Given the description of an element on the screen output the (x, y) to click on. 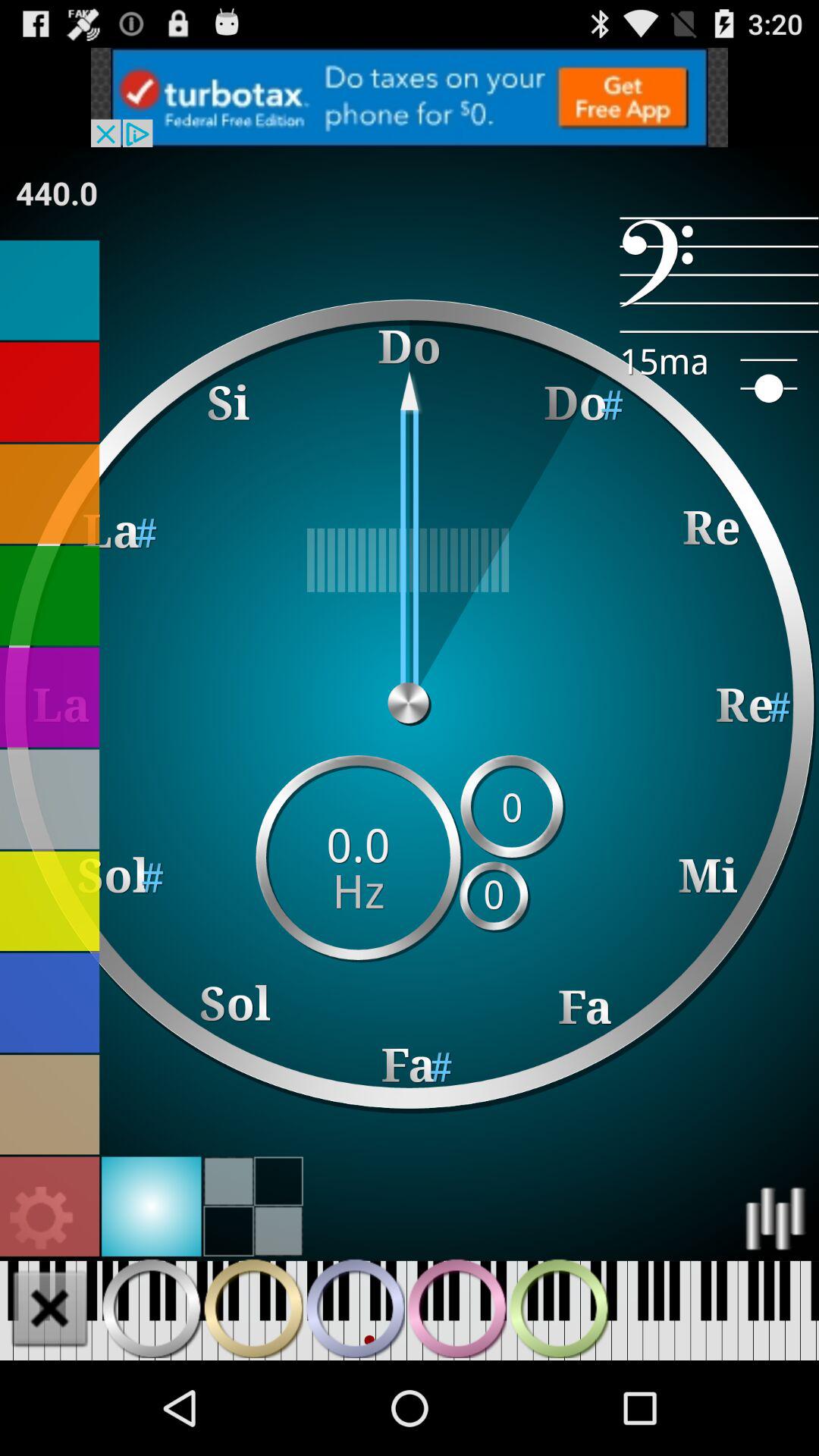
music keyboard button (354, 1308)
